Given the description of an element on the screen output the (x, y) to click on. 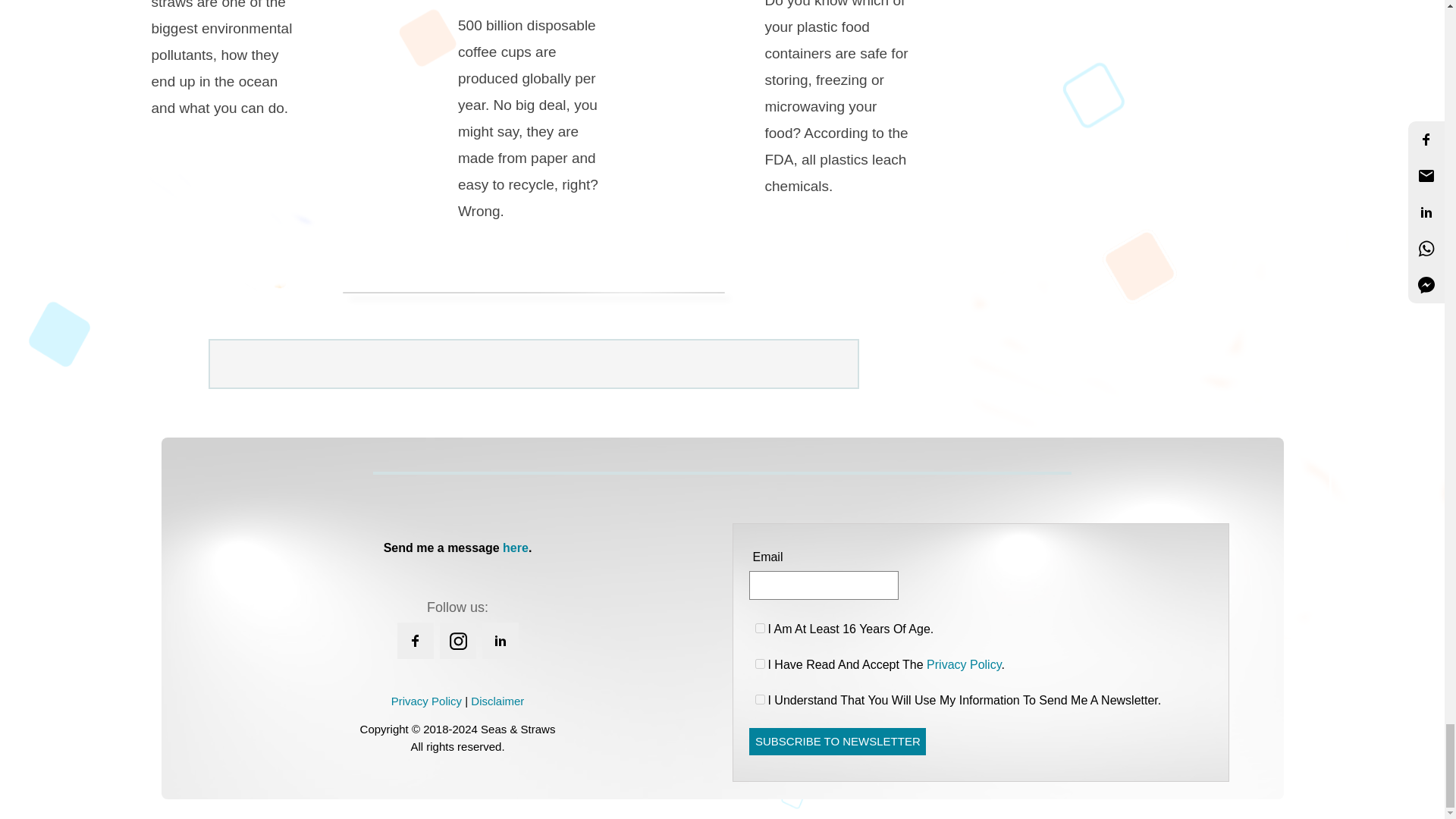
on (760, 699)
on (760, 628)
on (760, 664)
